Given the description of an element on the screen output the (x, y) to click on. 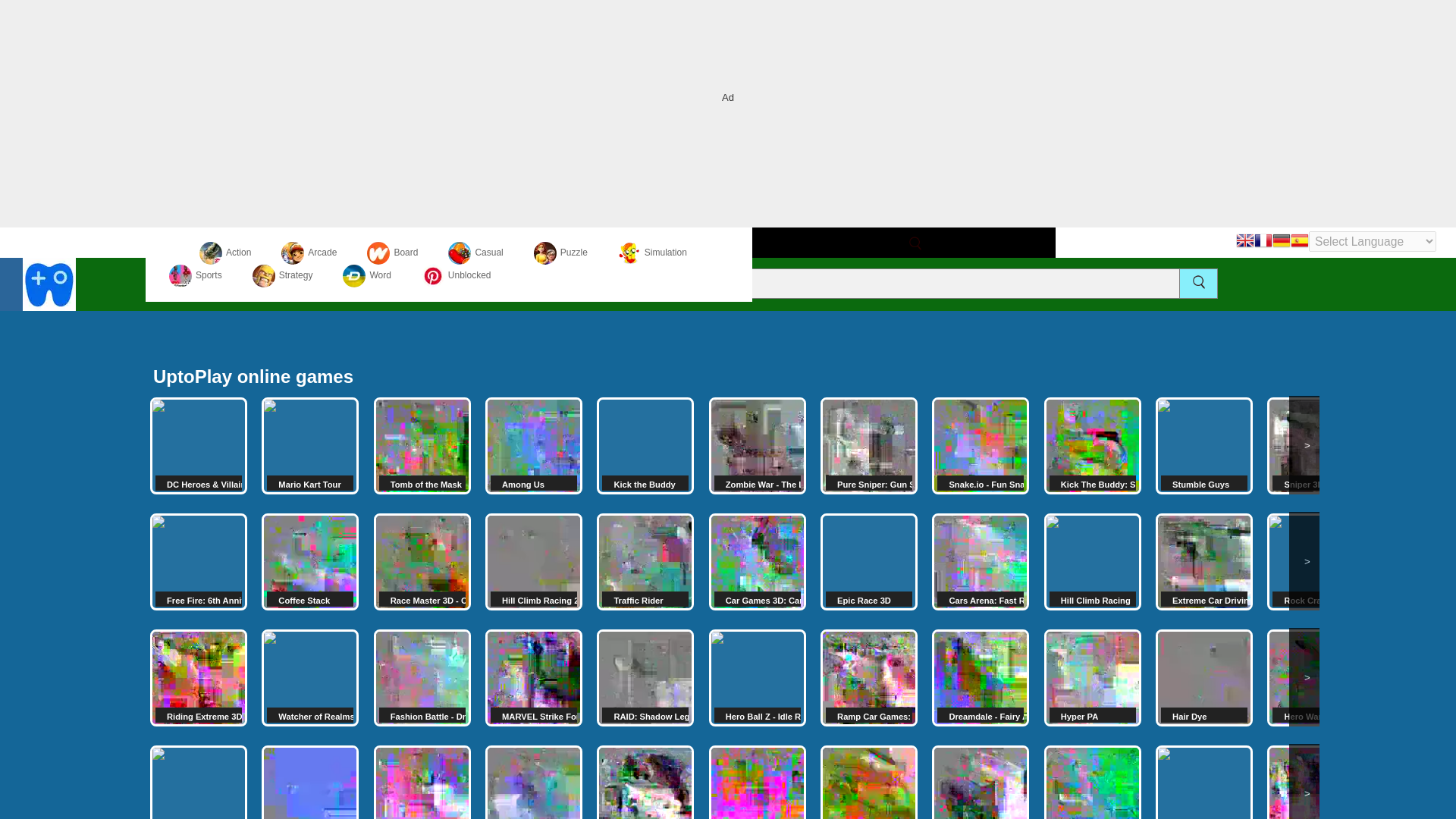
Board (391, 252)
Kick The Buddy: Second Kick (1092, 445)
Unblocked Games Premium (457, 275)
Pure Sniper: Gun Shooter Games (869, 445)
Board games online (391, 252)
search (915, 243)
Simulation (652, 252)
Strategy (282, 275)
Race Master 3D - Car Racing (422, 561)
Simulation games online (652, 252)
Puzzle games online (561, 252)
Kick the Buddy (645, 445)
Strategy games online (282, 275)
Car Games 3D: Car Racing (757, 561)
Hill Climb Racing 2 (533, 561)
